Given the description of an element on the screen output the (x, y) to click on. 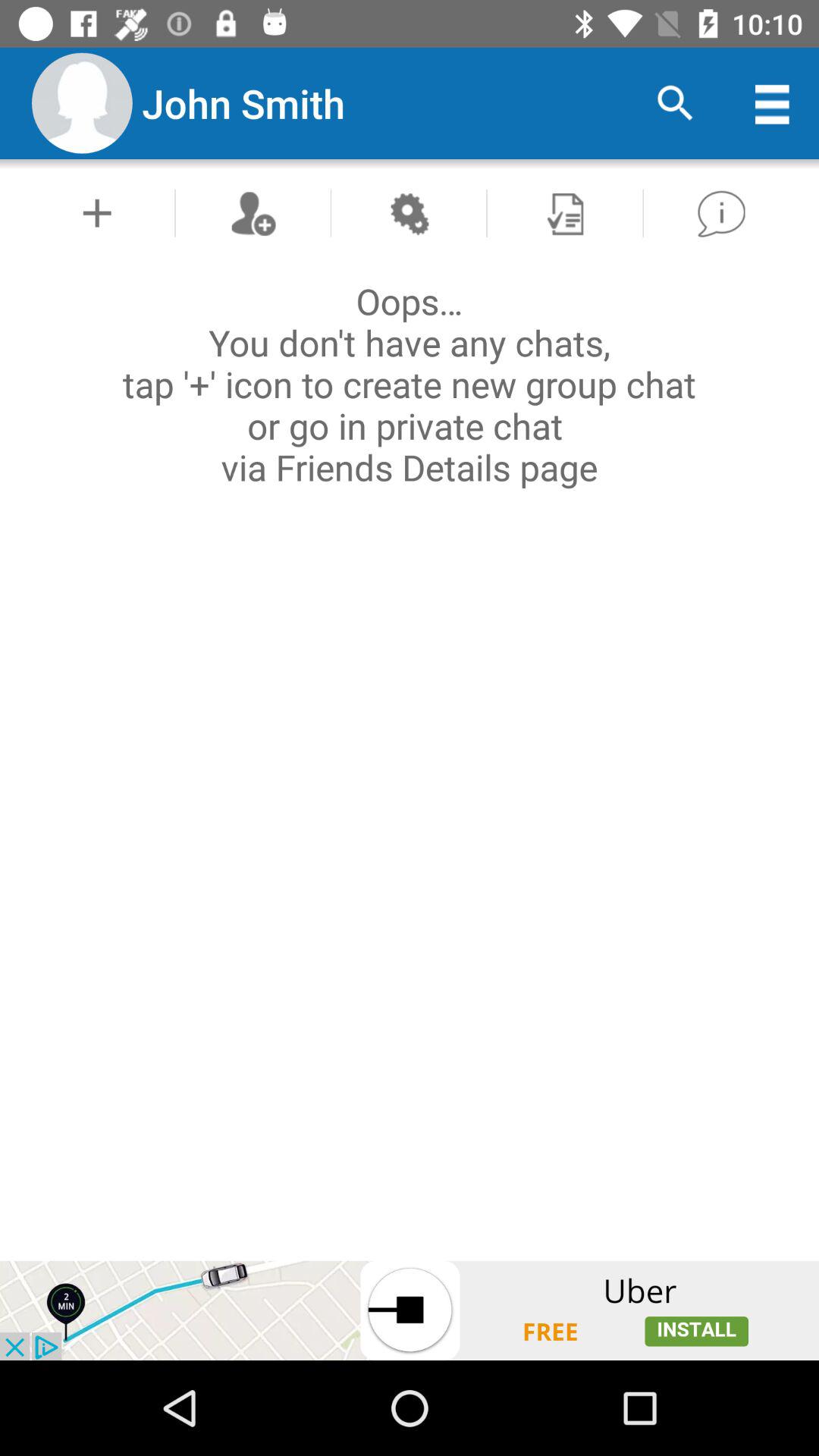
go do add (97, 213)
